Given the description of an element on the screen output the (x, y) to click on. 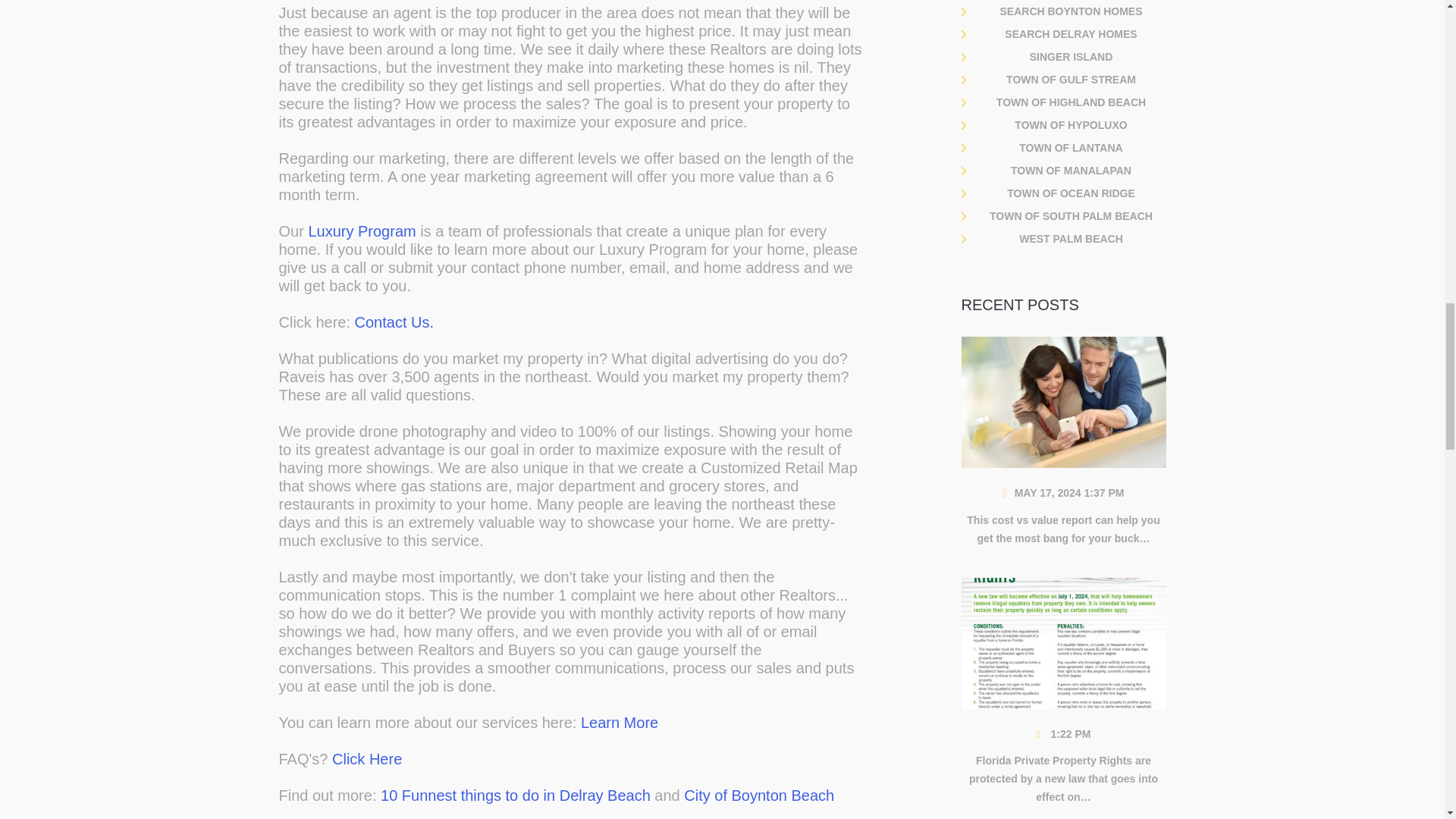
Luxury Program (360, 230)
Contact Us. (394, 321)
Click Here (366, 759)
Learn More (619, 722)
